Given the description of an element on the screen output the (x, y) to click on. 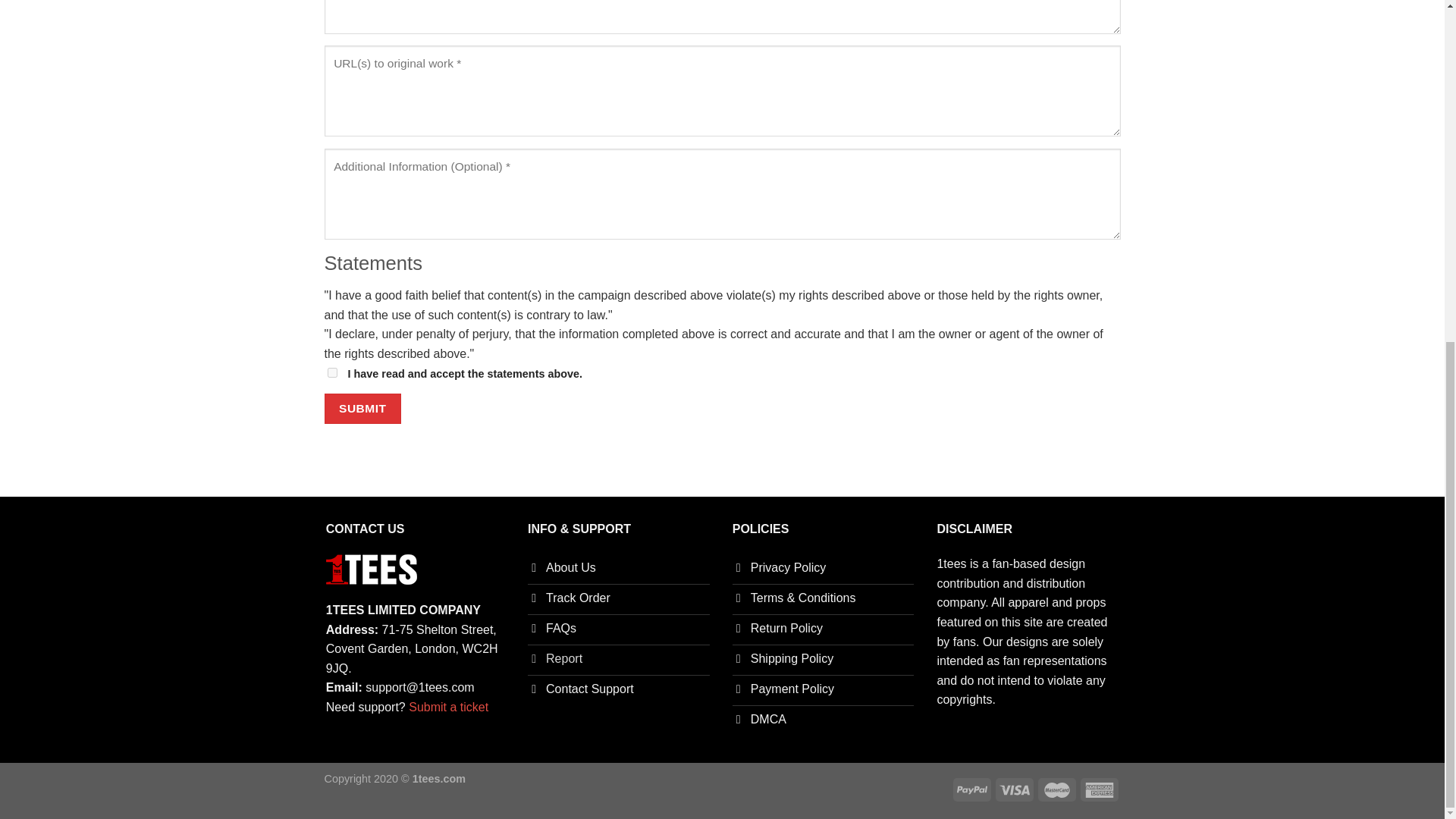
Submit (362, 657)
Contact Support (618, 690)
Shipping Policy (823, 660)
submit (362, 408)
Return Policy (823, 630)
submit (362, 408)
Privacy Policy (823, 569)
FAQs (618, 630)
DMCA (823, 720)
Report (618, 660)
